Given the description of an element on the screen output the (x, y) to click on. 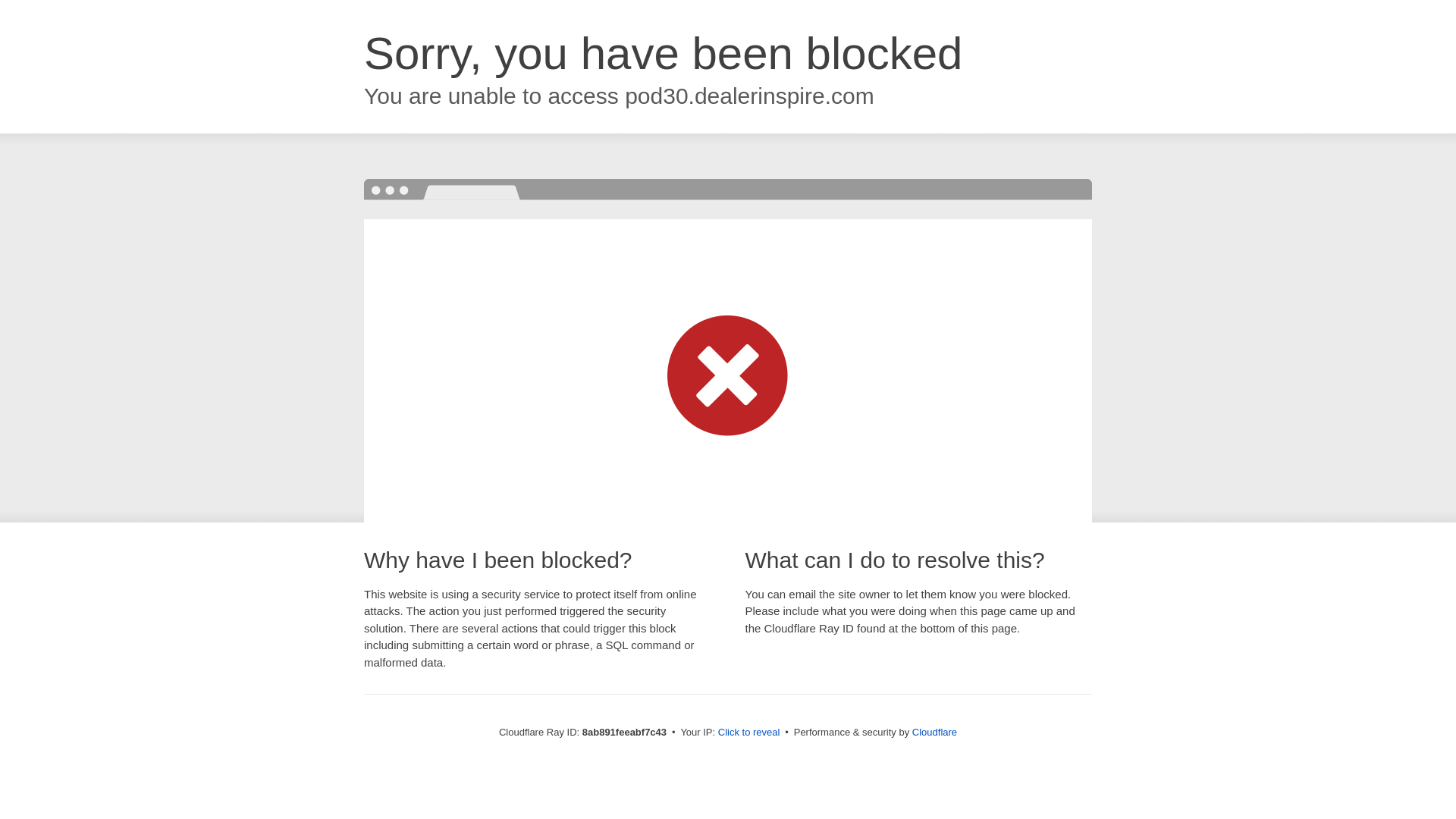
Cloudflare (934, 731)
Click to reveal (748, 732)
